Given the description of an element on the screen output the (x, y) to click on. 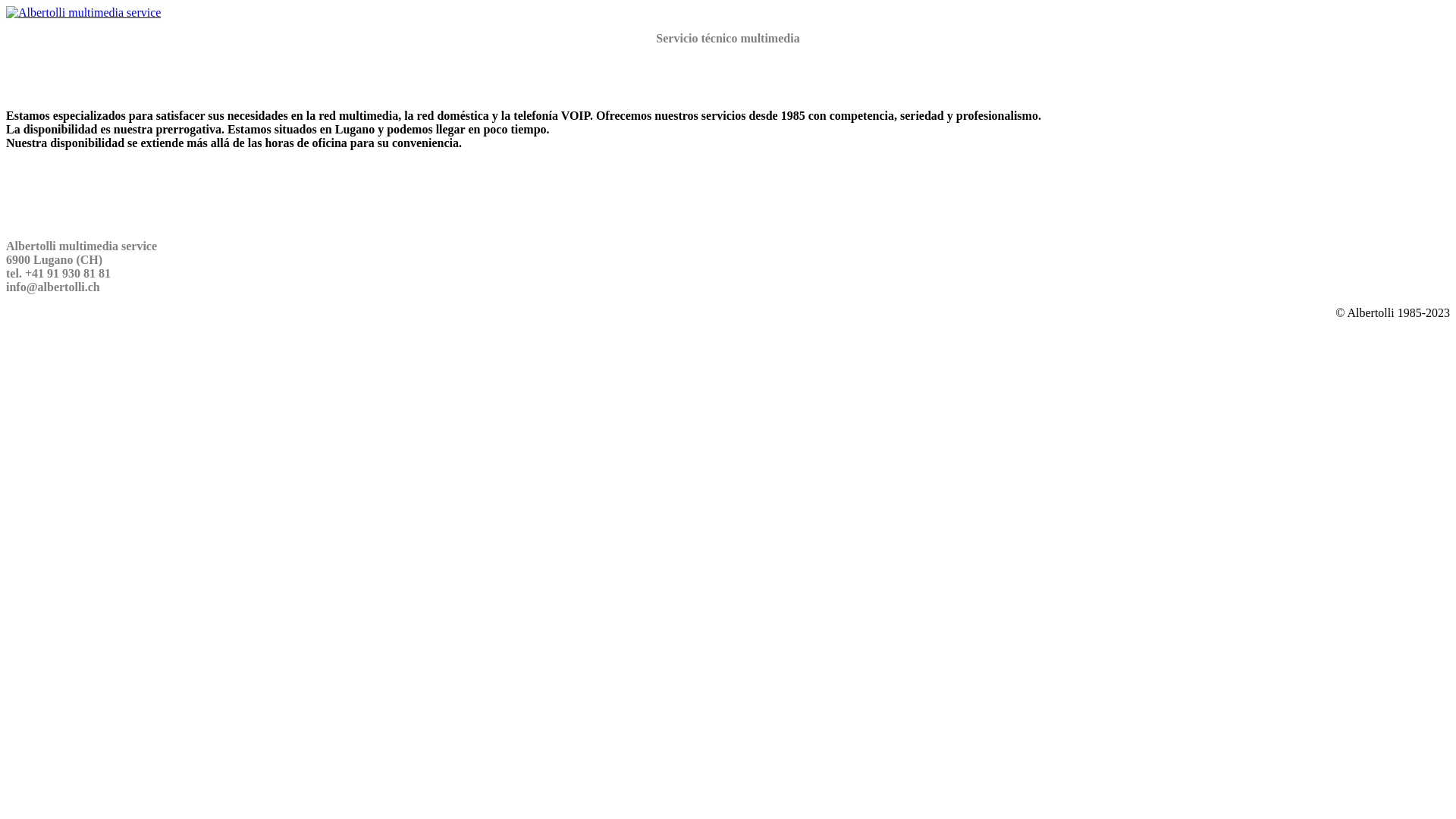
Albertolli multimedia service Element type: hover (83, 12)
